Given the description of an element on the screen output the (x, y) to click on. 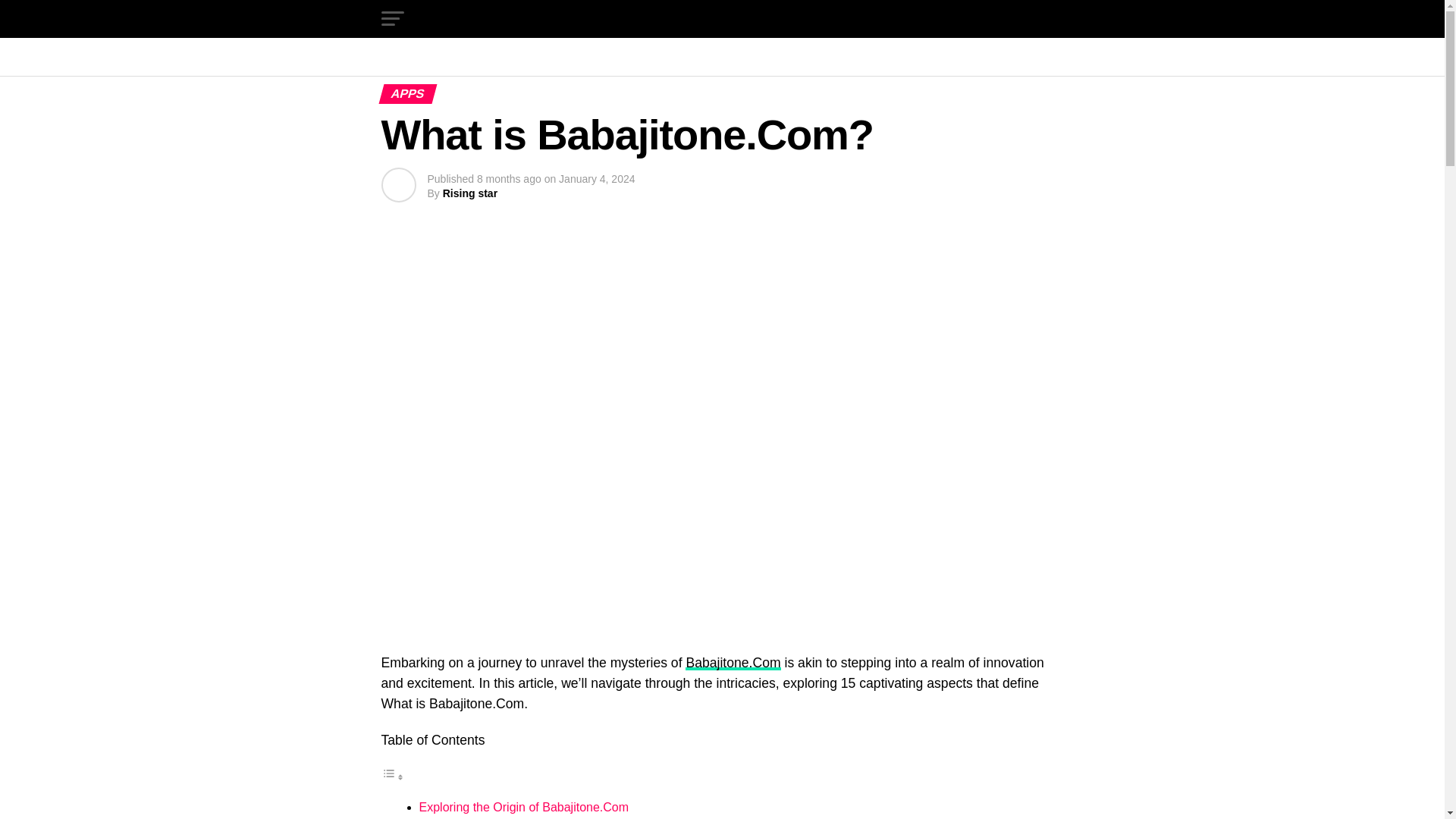
Posts by Rising star (469, 193)
Rising star (469, 193)
Babajitone.Com (732, 662)
Exploring the Origin of Babajitone.Com (523, 807)
Exploring the Origin of Babajitone.Com (523, 807)
